Given the description of an element on the screen output the (x, y) to click on. 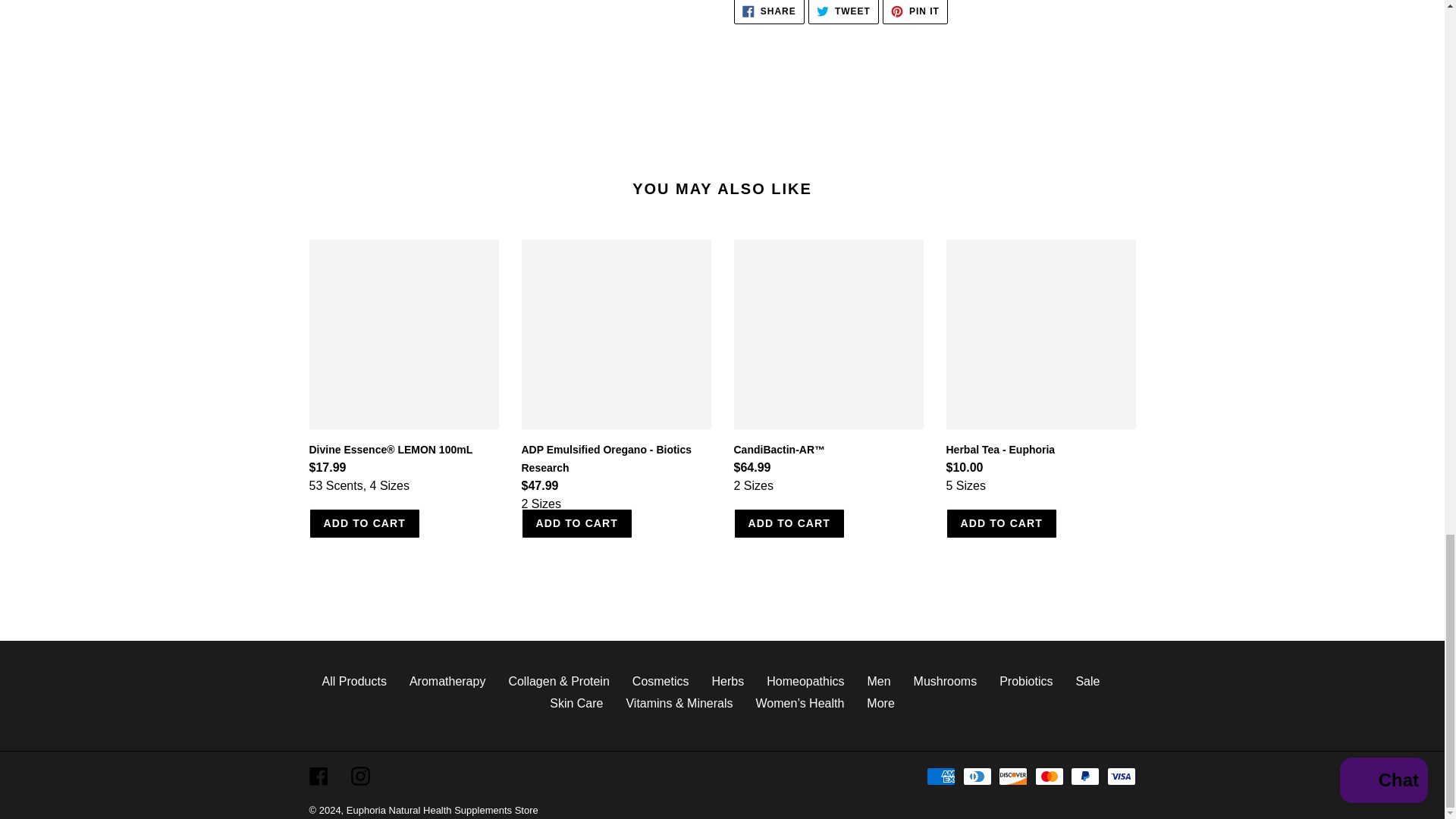
Add to Cart (789, 523)
Add to Cart (364, 523)
Add to Cart (1002, 523)
Add to Cart (577, 523)
